Given the description of an element on the screen output the (x, y) to click on. 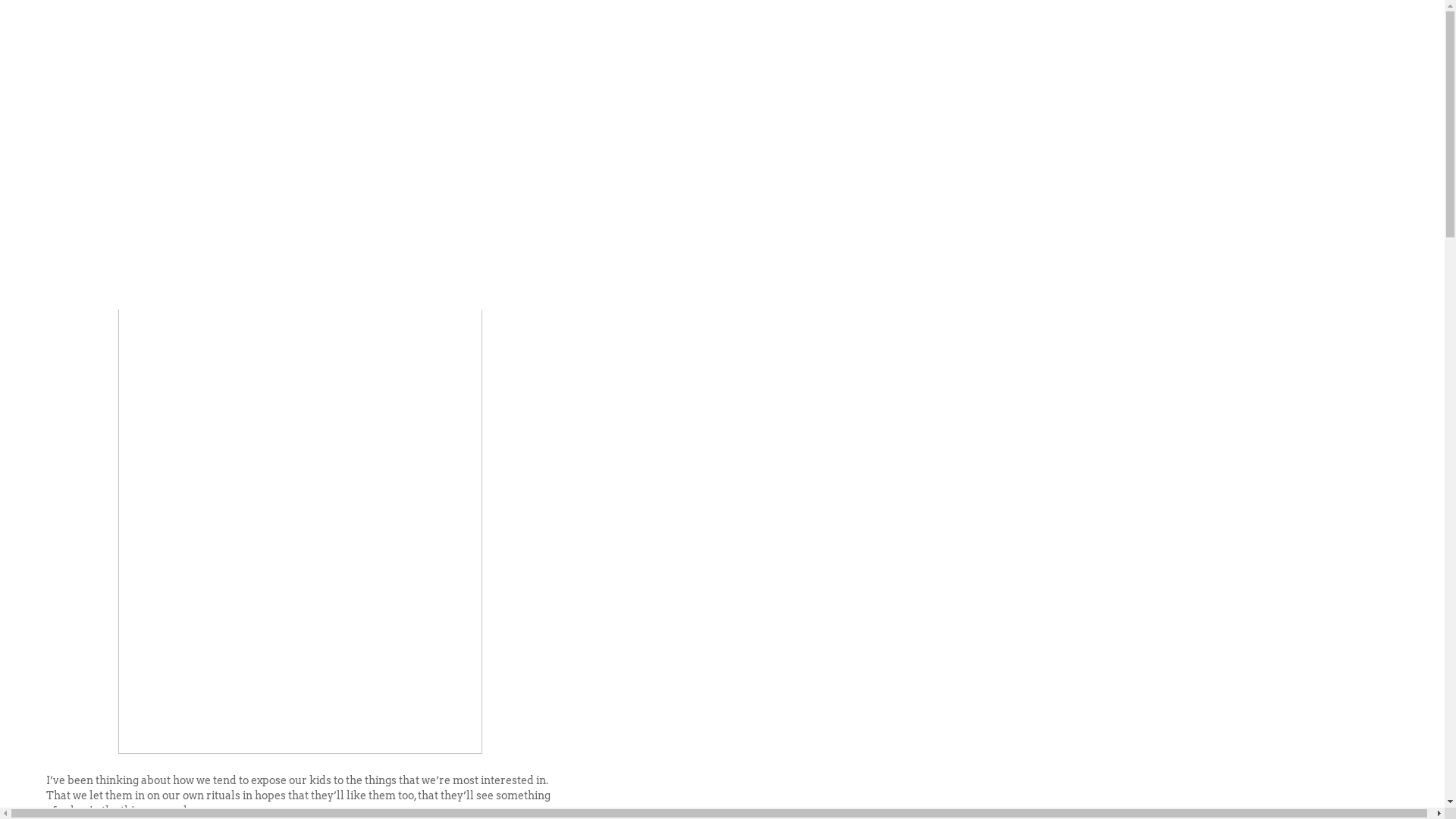
Home Element type: text (372, 159)
Contact Element type: text (484, 159)
About Element type: text (425, 159)
